Given the description of an element on the screen output the (x, y) to click on. 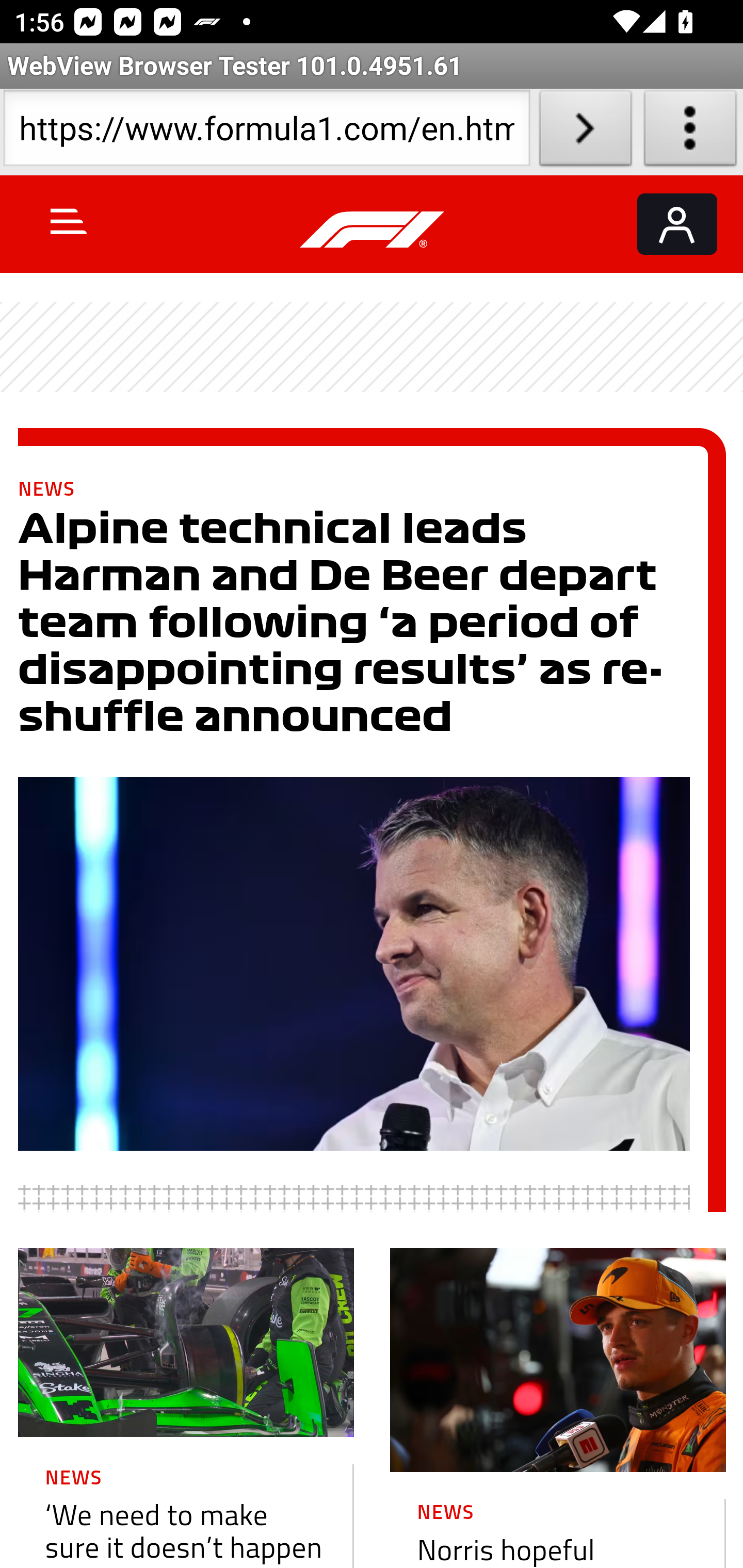
https://www.formula1.com/en.html (266, 132)
Load URL (585, 132)
About WebView (690, 132)
Toggle Menu (68, 220)
Formula 1 (372, 230)
 Login/Register  Login/Register (677, 223)
